Given the description of an element on the screen output the (x, y) to click on. 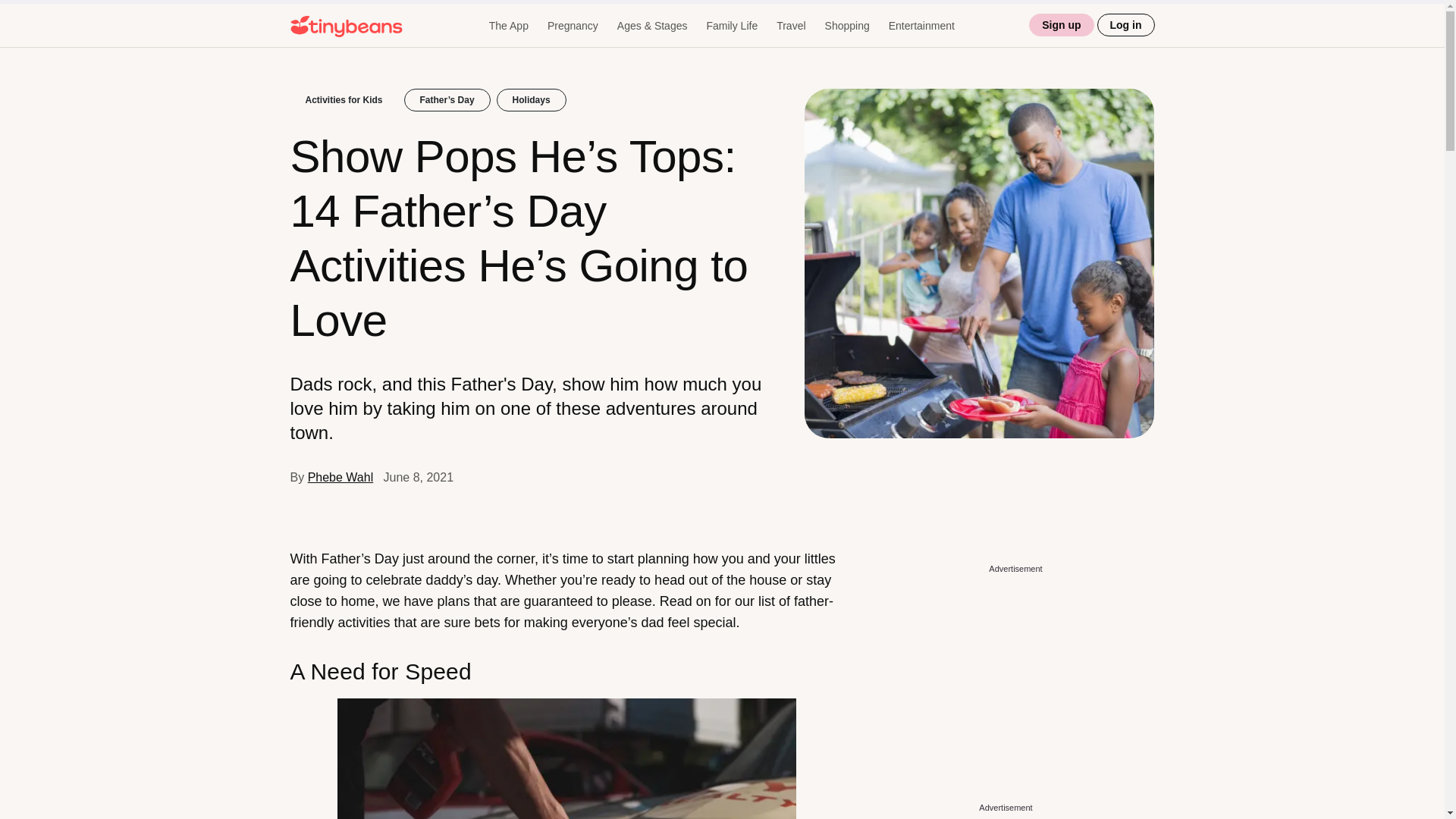
The App (508, 25)
Pregnancy (572, 25)
Posts by Phebe Wahl (340, 477)
Family Life (731, 25)
